Given the description of an element on the screen output the (x, y) to click on. 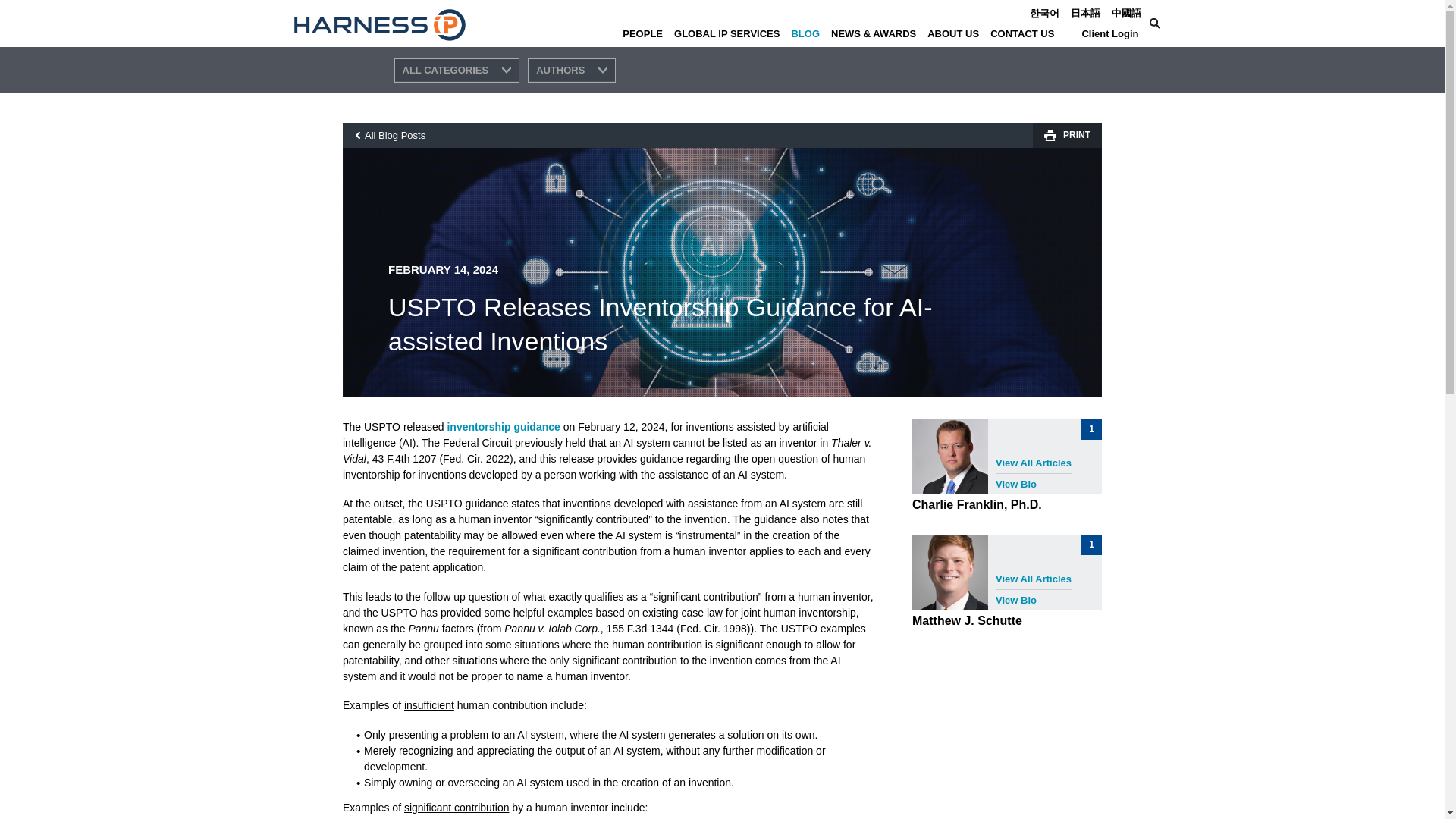
CONTACT US (1027, 33)
BLOG (810, 33)
ABOUT US (958, 33)
GLOBAL IP SERVICES (732, 33)
PEOPLE (648, 33)
Search for: (1064, 23)
Client Login (1109, 33)
